Given the description of an element on the screen output the (x, y) to click on. 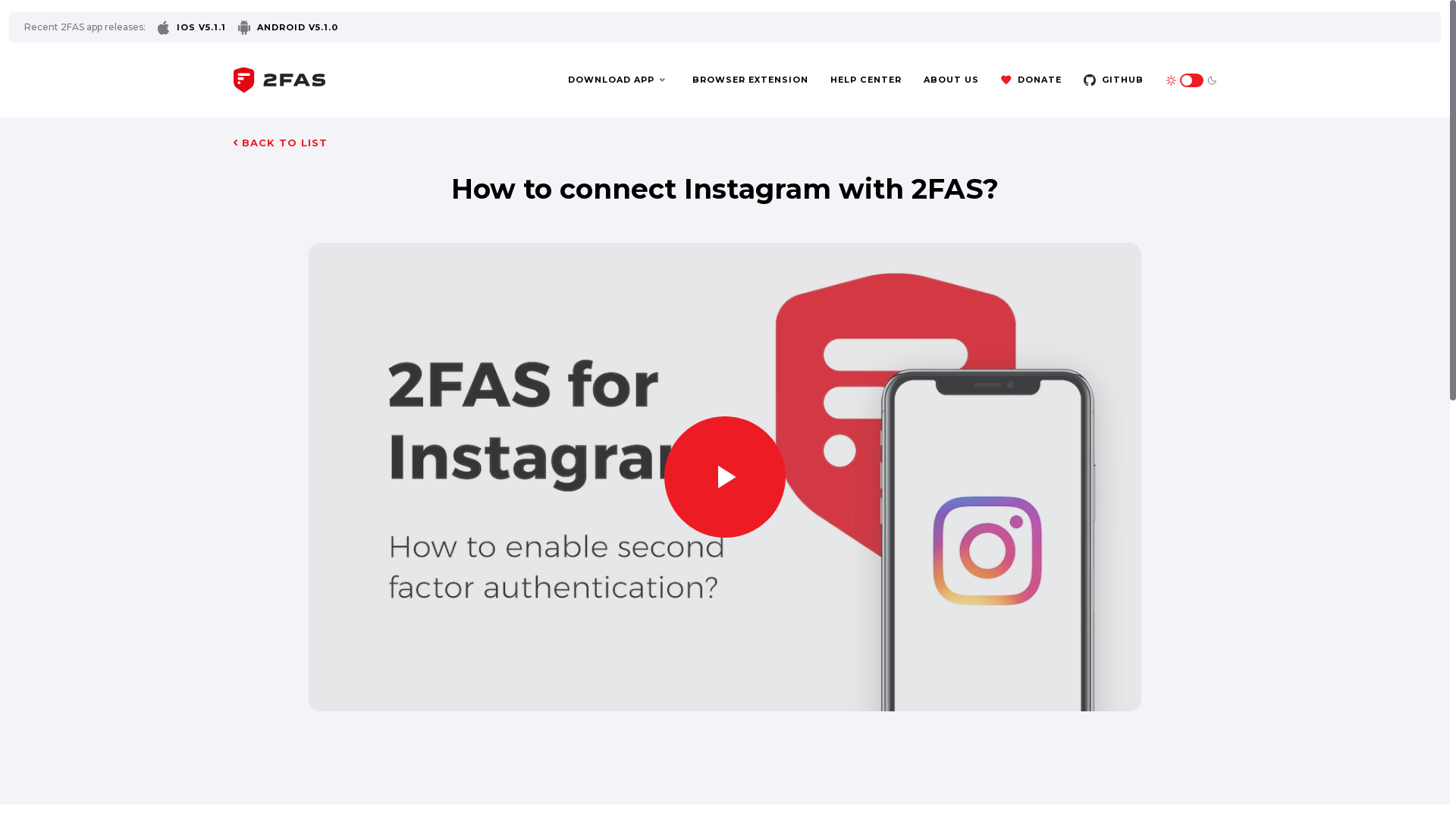
HELP CENTER Element type: text (865, 79)
ABOUT US Element type: text (951, 79)
GITHUB Element type: text (1113, 79)
DONATE Element type: text (1031, 79)
ANDROID V5.1.0 Element type: text (288, 27)
DOWNLOAD APP Element type: text (616, 79)
BROWSER EXTENSION Element type: text (750, 79)
BACK TO LIST Element type: text (280, 142)
2FAS Element type: hover (279, 79)
IOS V5.1.1 Element type: text (191, 27)
